Given the description of an element on the screen output the (x, y) to click on. 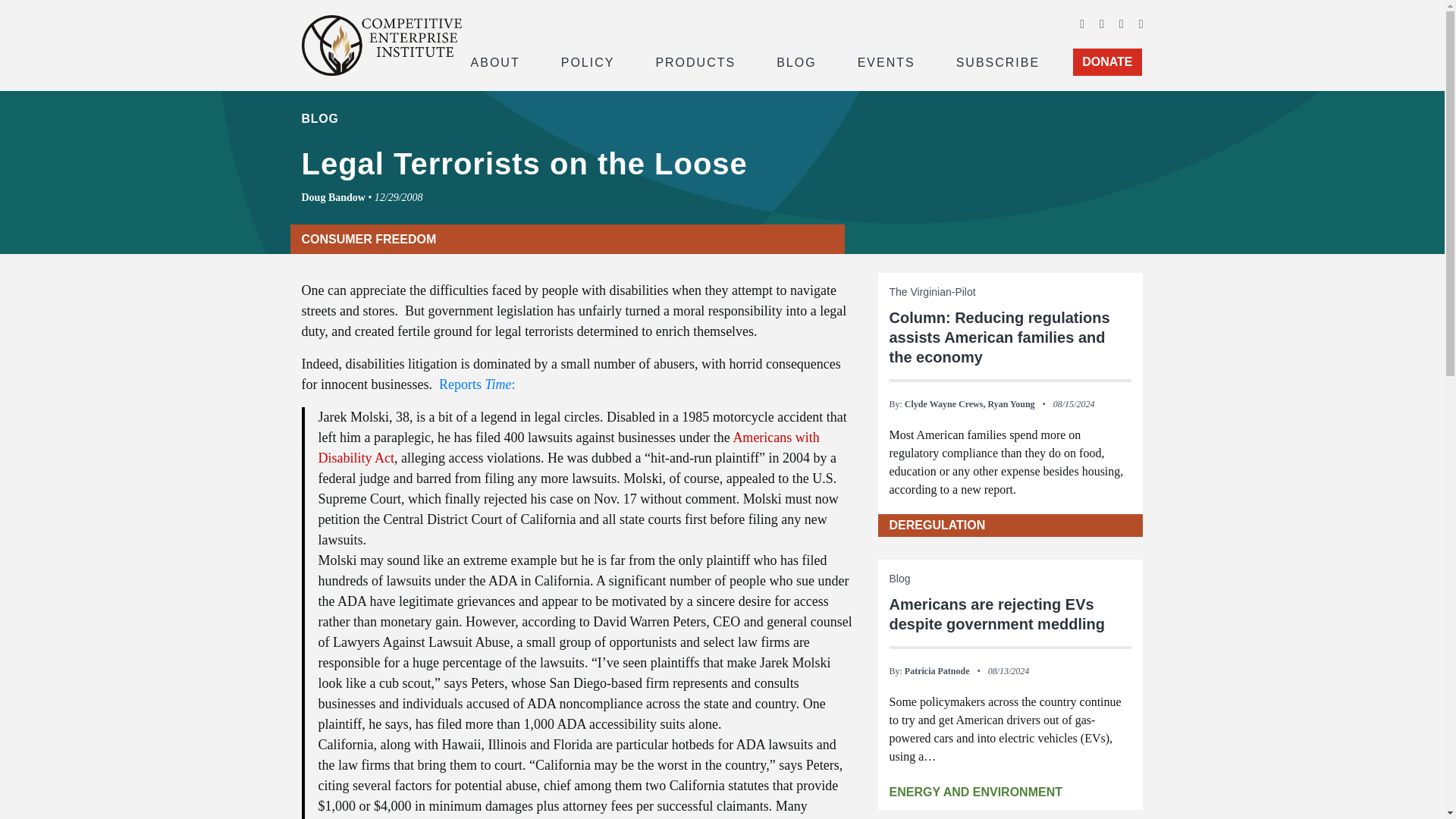
PRODUCTS (694, 61)
BLOG (796, 61)
ABOUT (495, 61)
DONATE (1107, 62)
SUBSCRIBE (997, 61)
POLICY (588, 61)
EVENTS (886, 61)
